Given the description of an element on the screen output the (x, y) to click on. 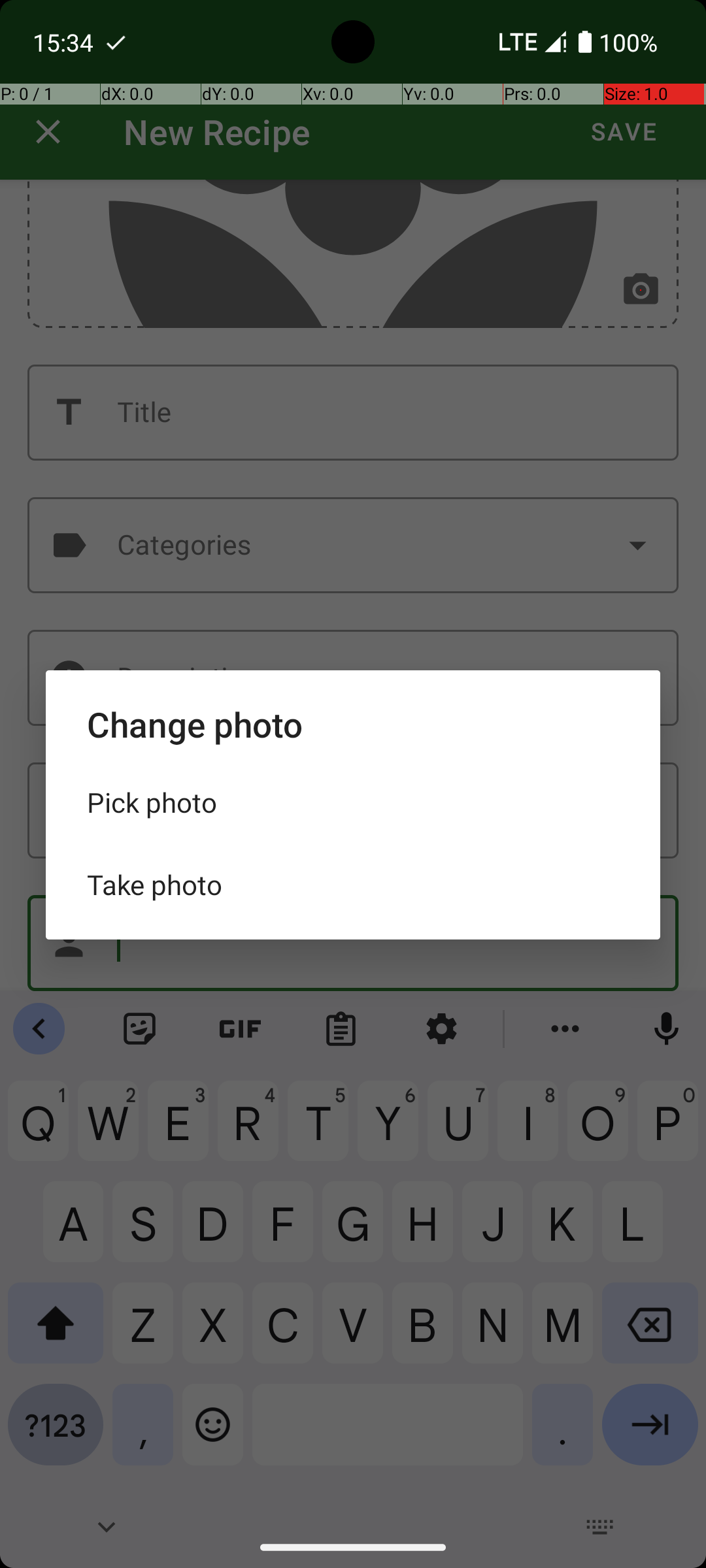
Pick photo Element type: android.widget.TextView (352, 802)
